Given the description of an element on the screen output the (x, y) to click on. 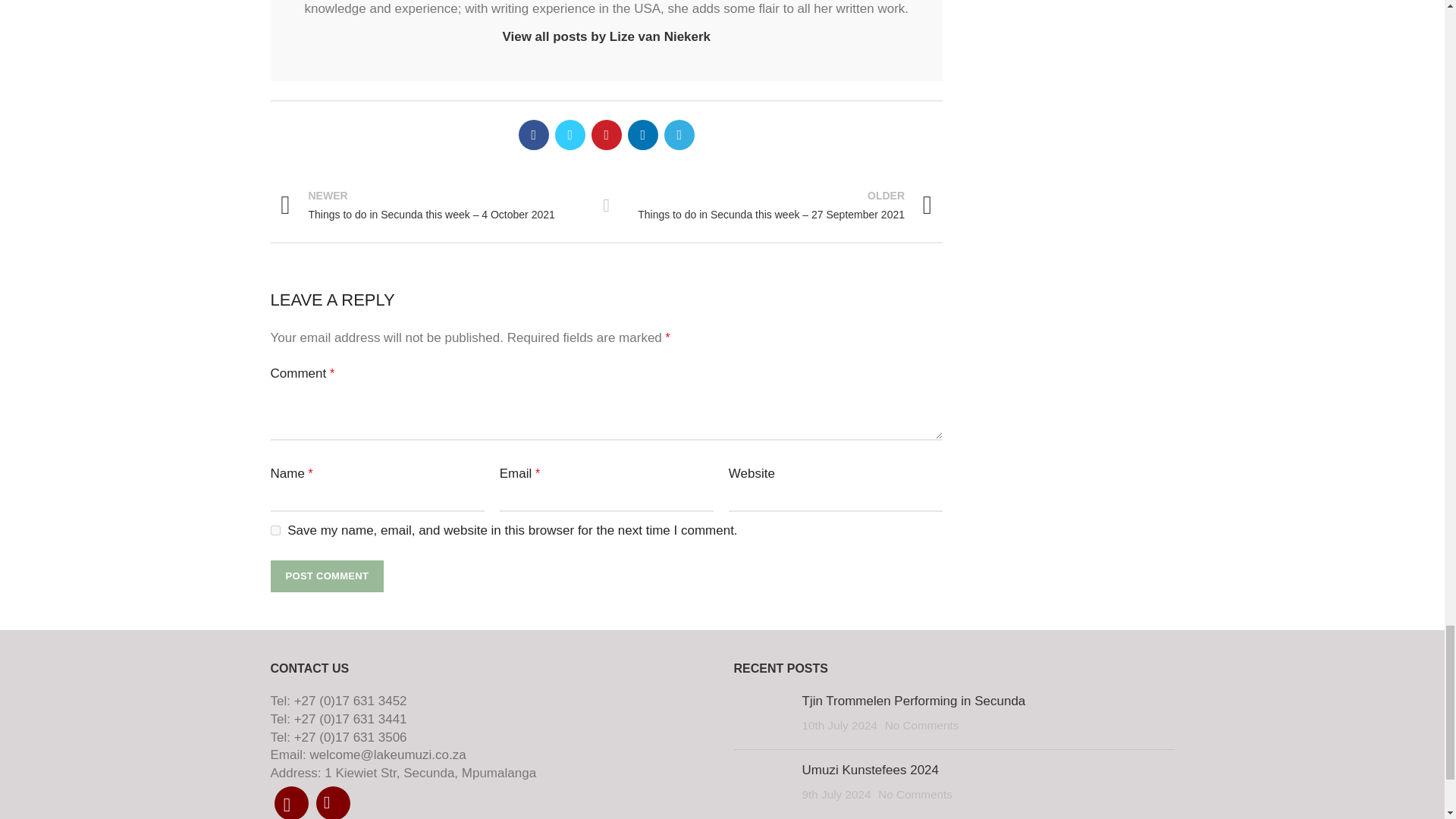
Permalink to Tjin Trommelen Performing in Secunda (914, 700)
Post Comment (326, 576)
Permalink to Umuzi Kunstefees 2024 (870, 769)
Website Umuzi Kunstefees 6 (761, 783)
yes (274, 530)
